Given the description of an element on the screen output the (x, y) to click on. 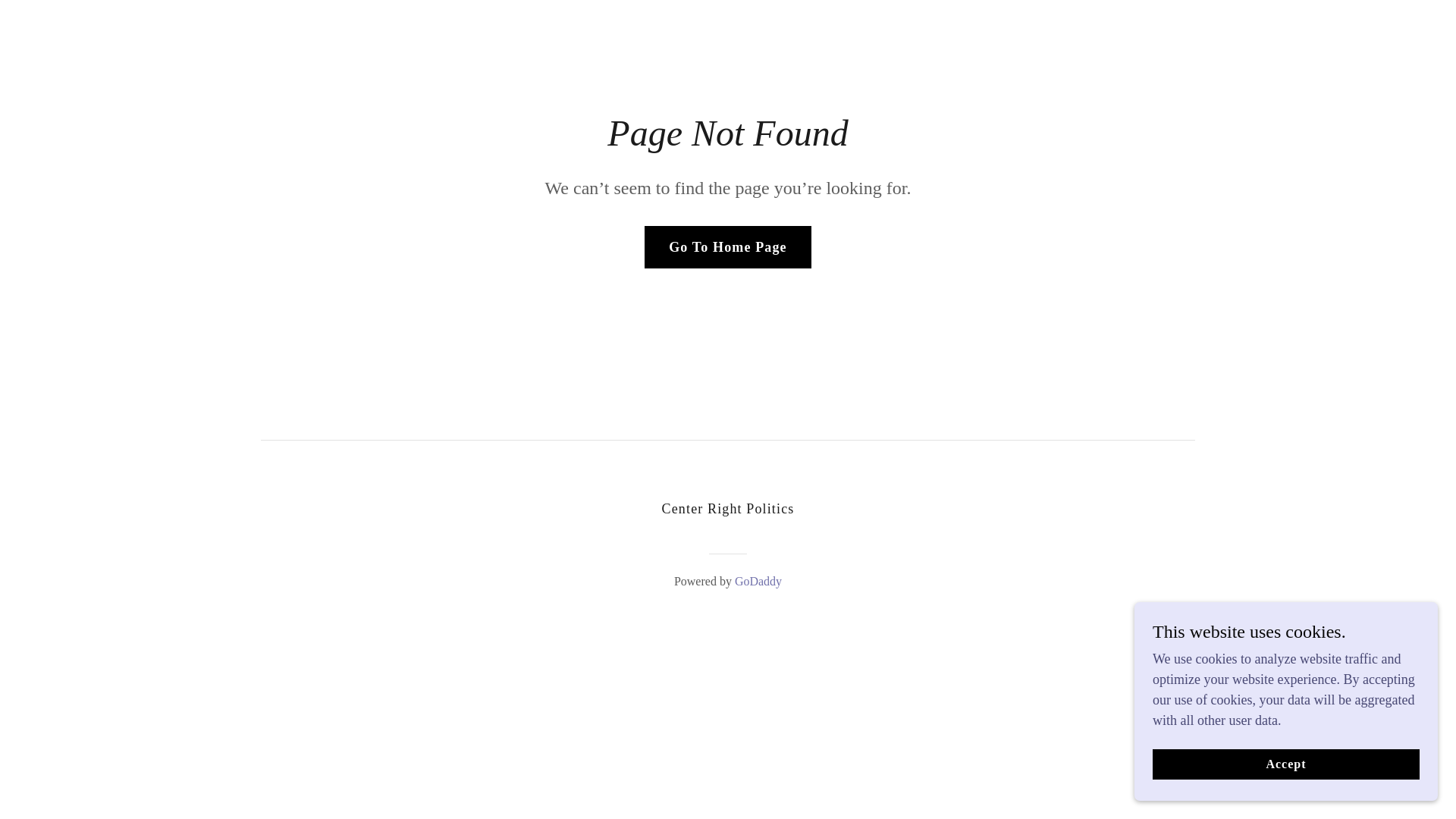
Center Right Politics (728, 509)
GoDaddy (758, 581)
Go To Home Page (727, 247)
Accept (1286, 764)
